Given the description of an element on the screen output the (x, y) to click on. 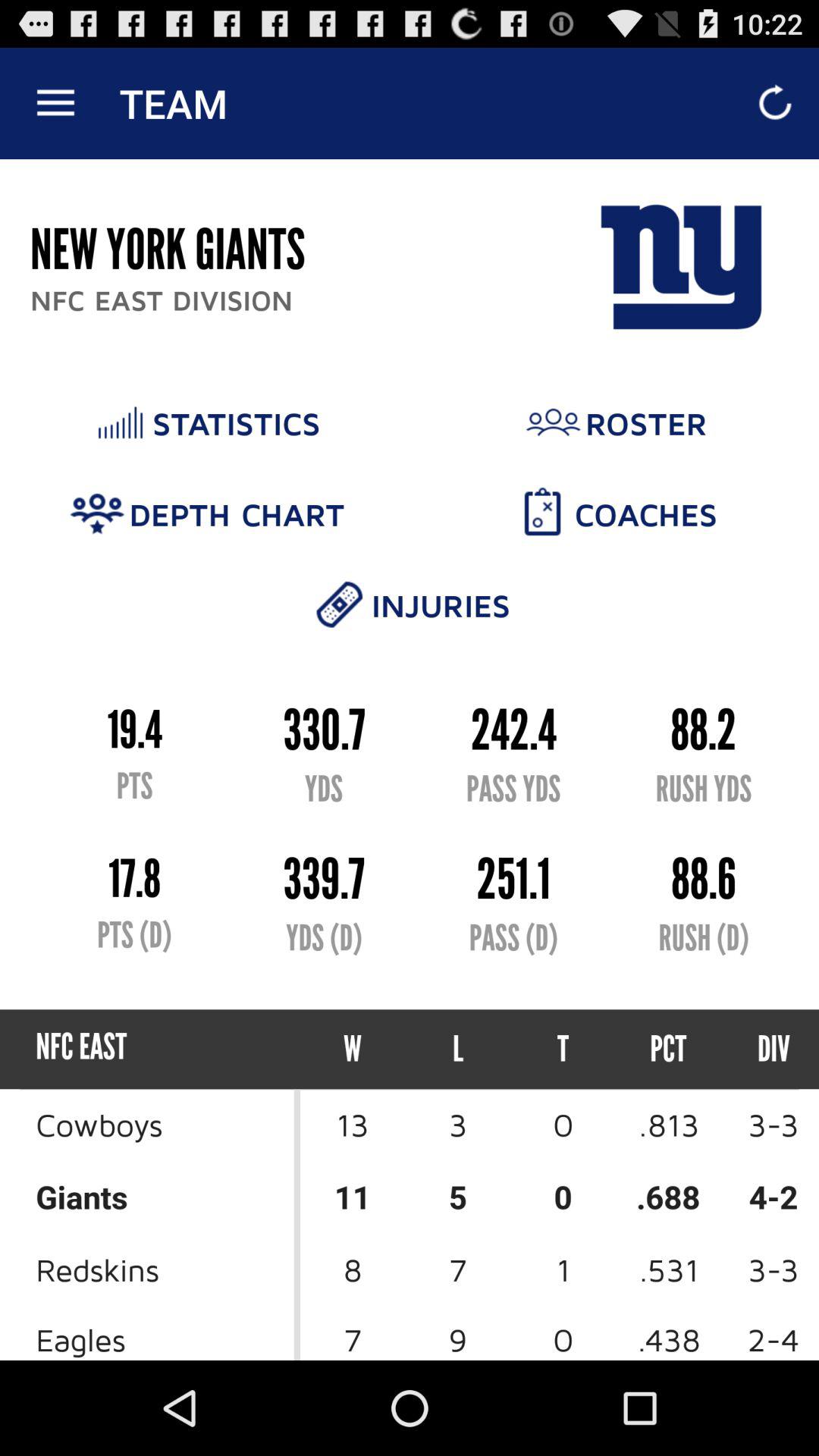
turn off the icon above new york giants (55, 103)
